Given the description of an element on the screen output the (x, y) to click on. 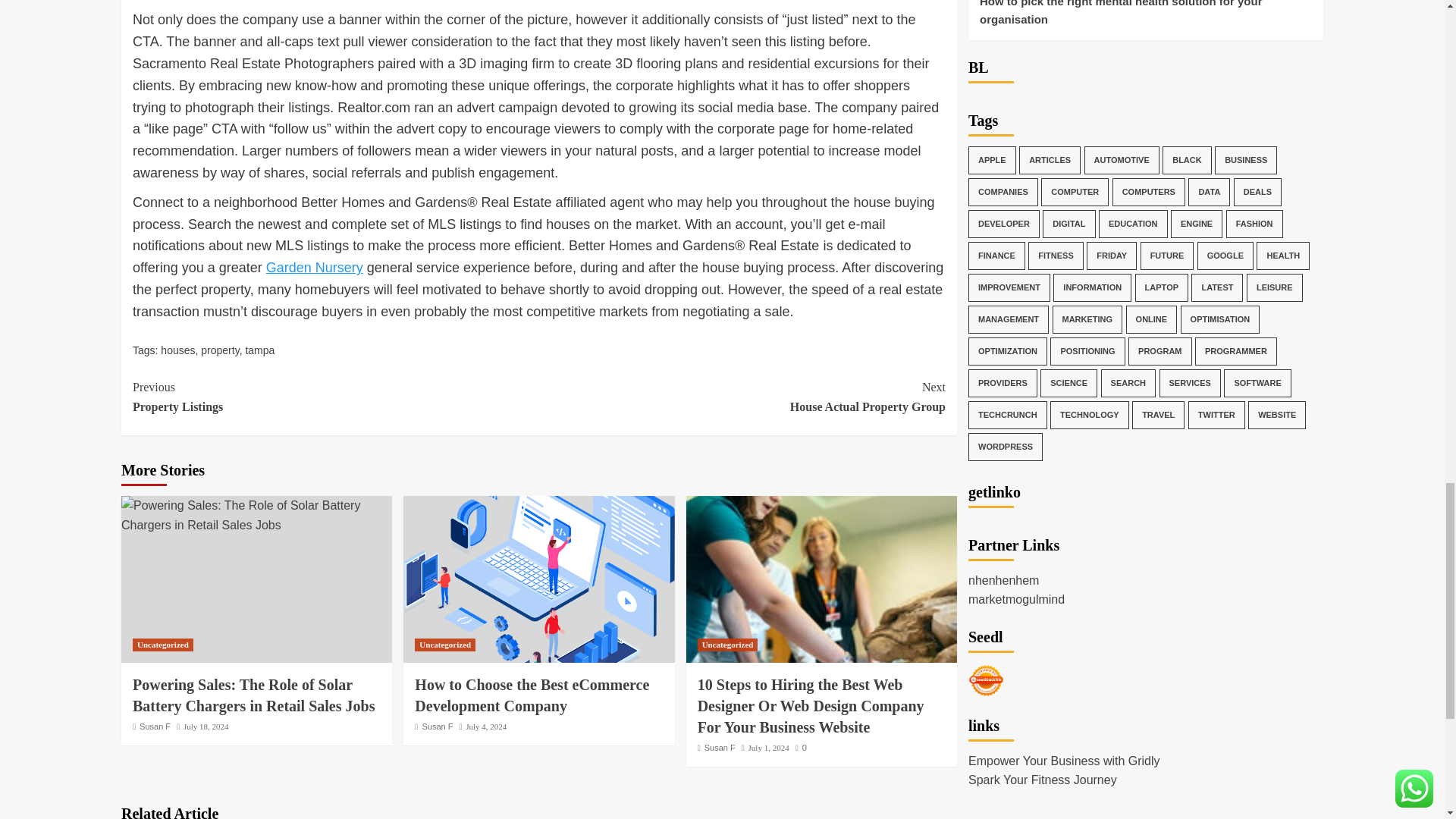
July 18, 2024 (741, 396)
Uncategorized (205, 726)
Uncategorized (162, 644)
property (445, 644)
Garden Nursery (219, 349)
Susan F (314, 267)
How to Choose the Best eCommerce Development Company (154, 726)
tampa (538, 579)
houses (259, 349)
